Given the description of an element on the screen output the (x, y) to click on. 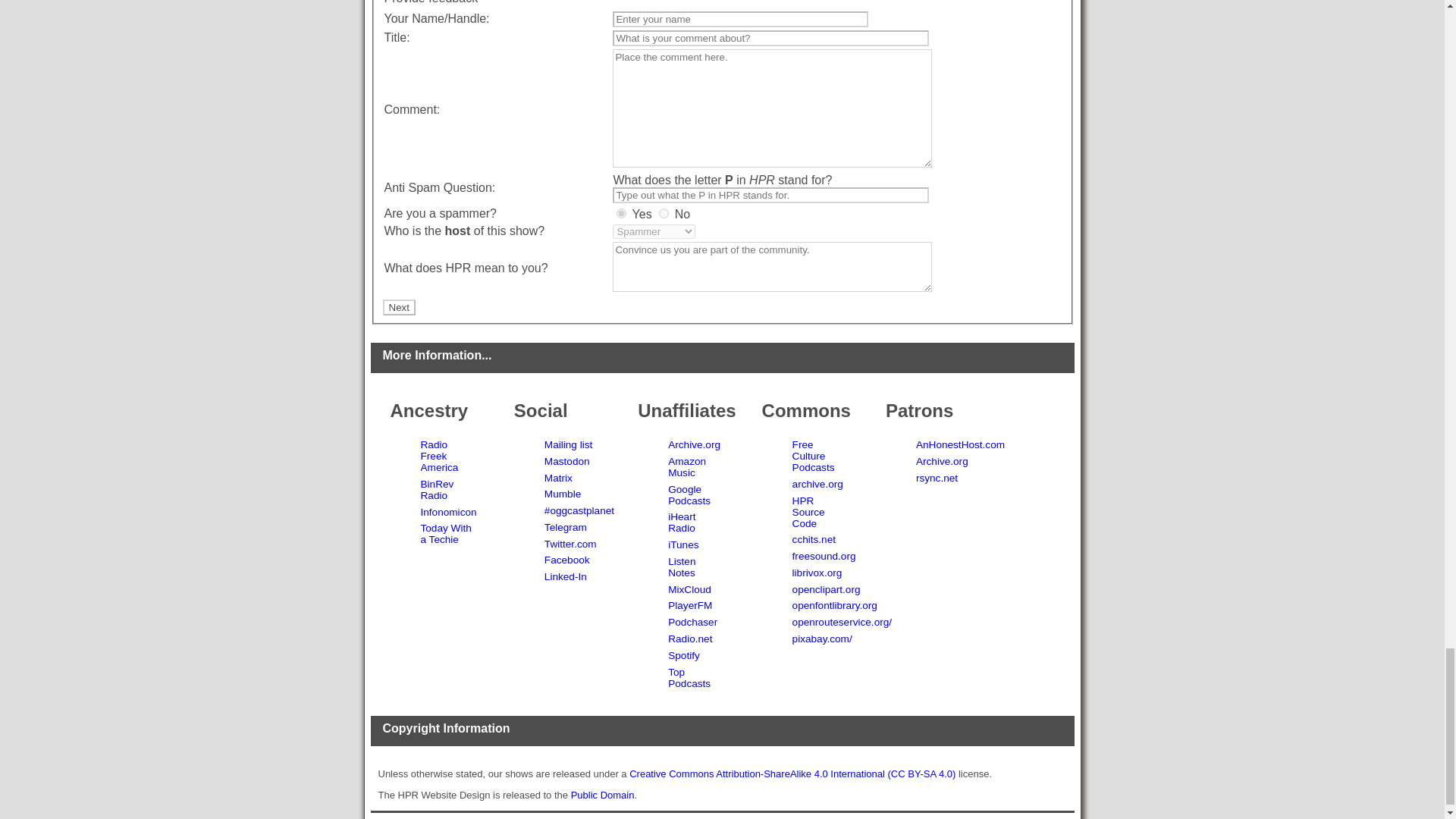
Next (397, 307)
Yes (620, 213)
No (663, 213)
